Given the description of an element on the screen output the (x, y) to click on. 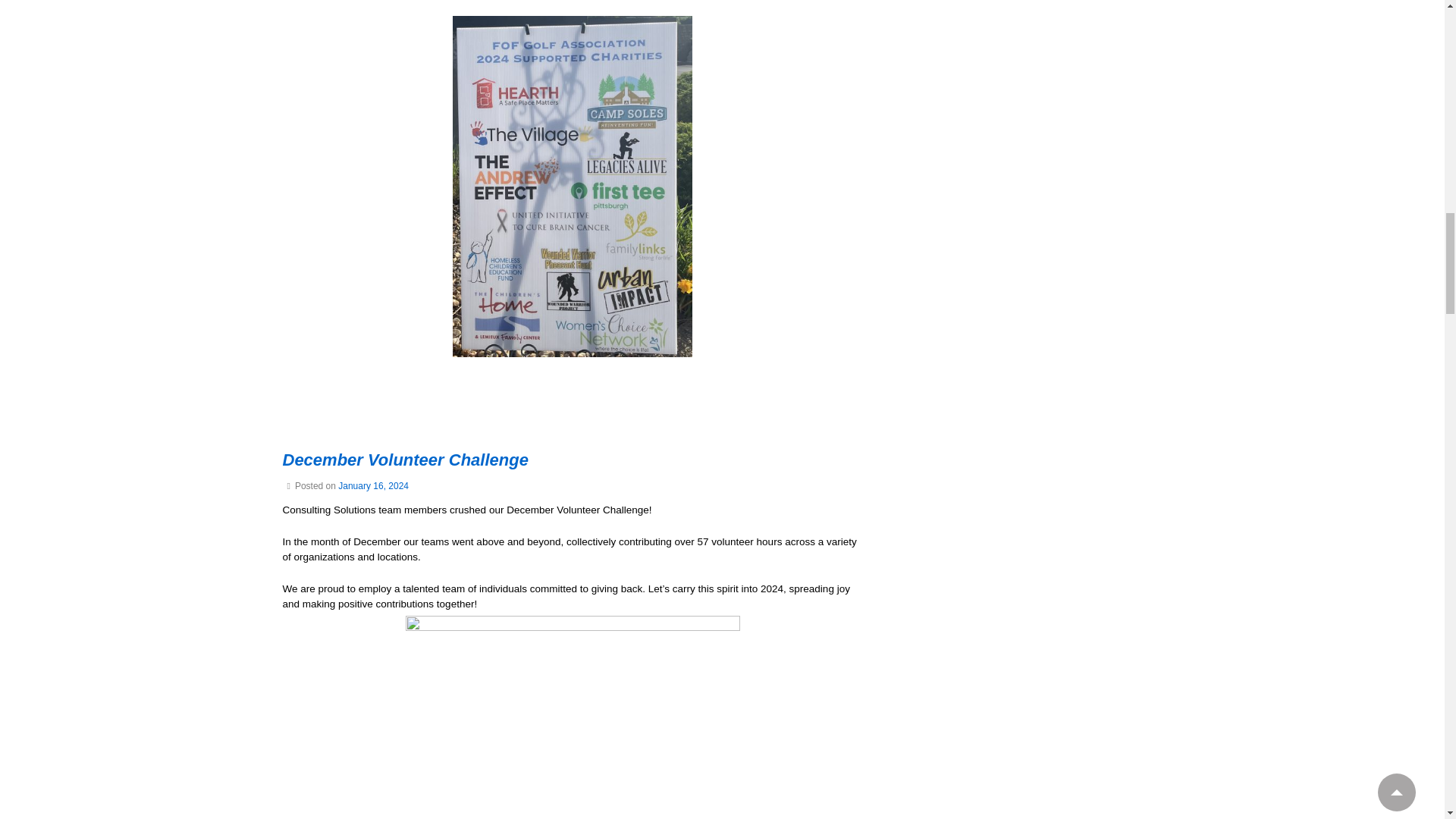
December Volunteer Challenge (373, 485)
